Given the description of an element on the screen output the (x, y) to click on. 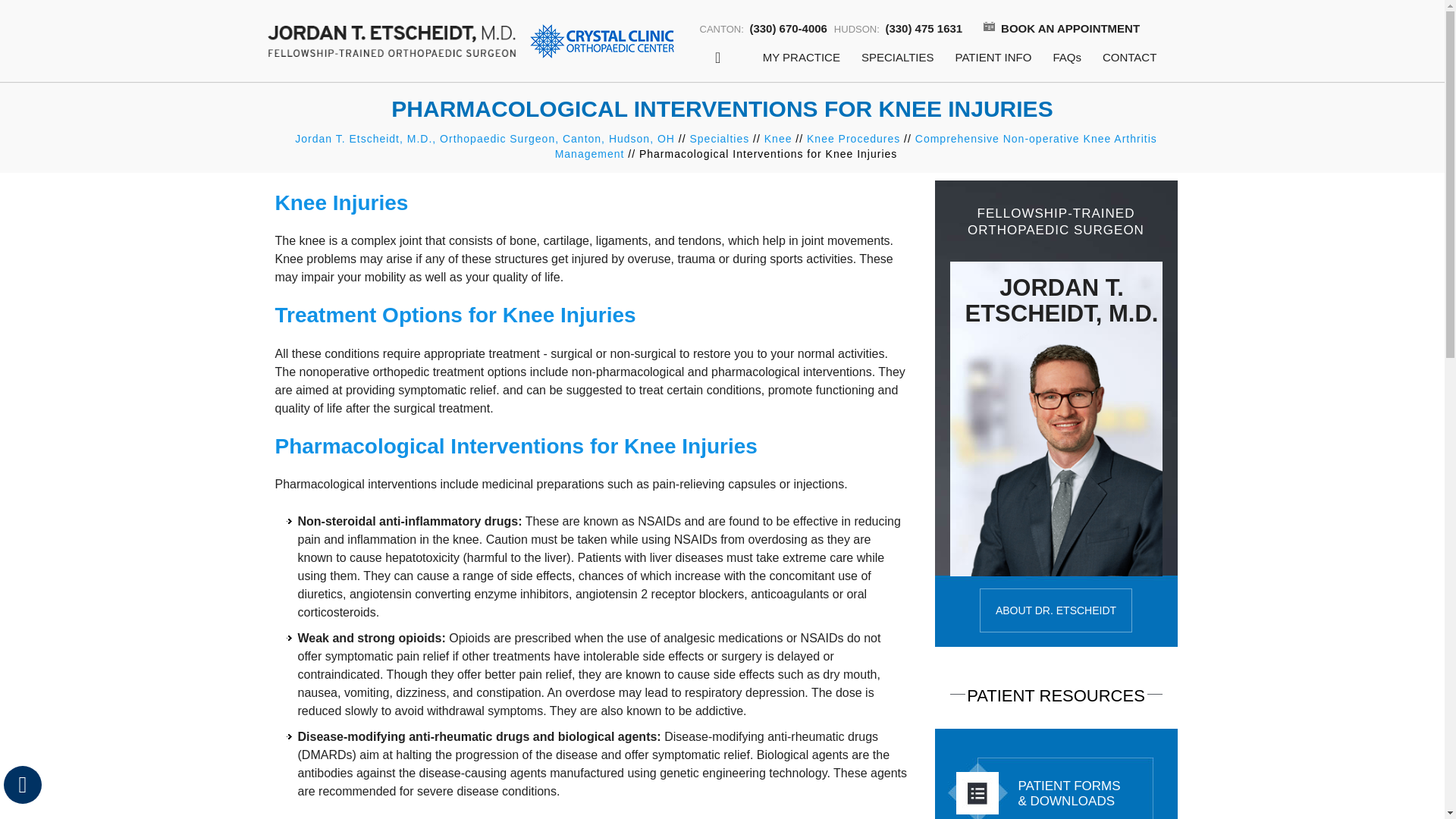
PATIENT INFO (993, 59)
FAQs (1067, 59)
CONTACT (1129, 59)
Accessible Tool Options (23, 784)
Hide (22, 784)
MY PRACTICE (801, 59)
HOME (718, 59)
SPECIALTIES (897, 59)
BOOK AN APPOINTMENT (1054, 27)
